Given the description of an element on the screen output the (x, y) to click on. 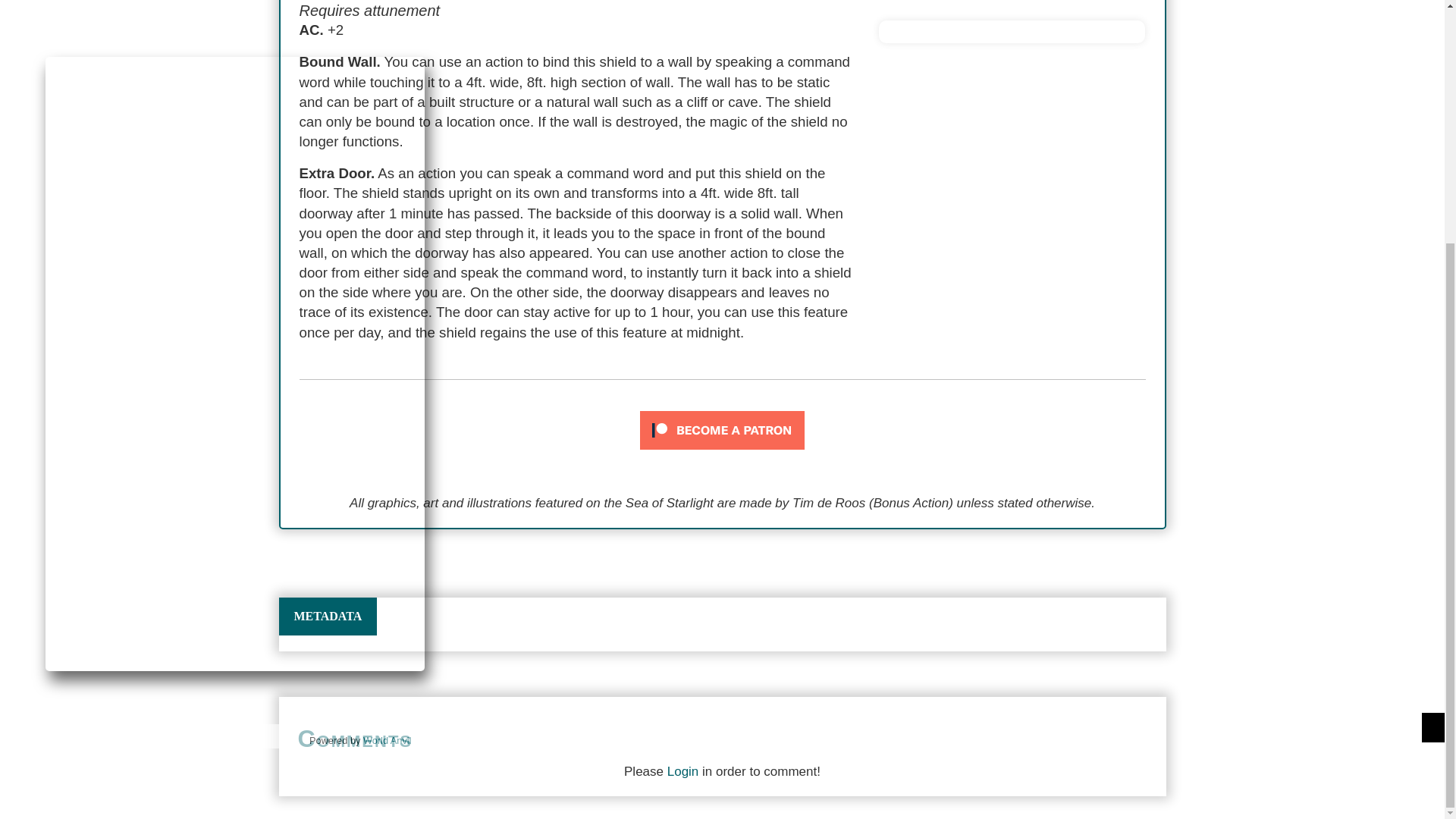
Login (682, 771)
Support Bonus Action on Patreon (722, 430)
World Anvil (387, 402)
METADATA (328, 616)
